Given the description of an element on the screen output the (x, y) to click on. 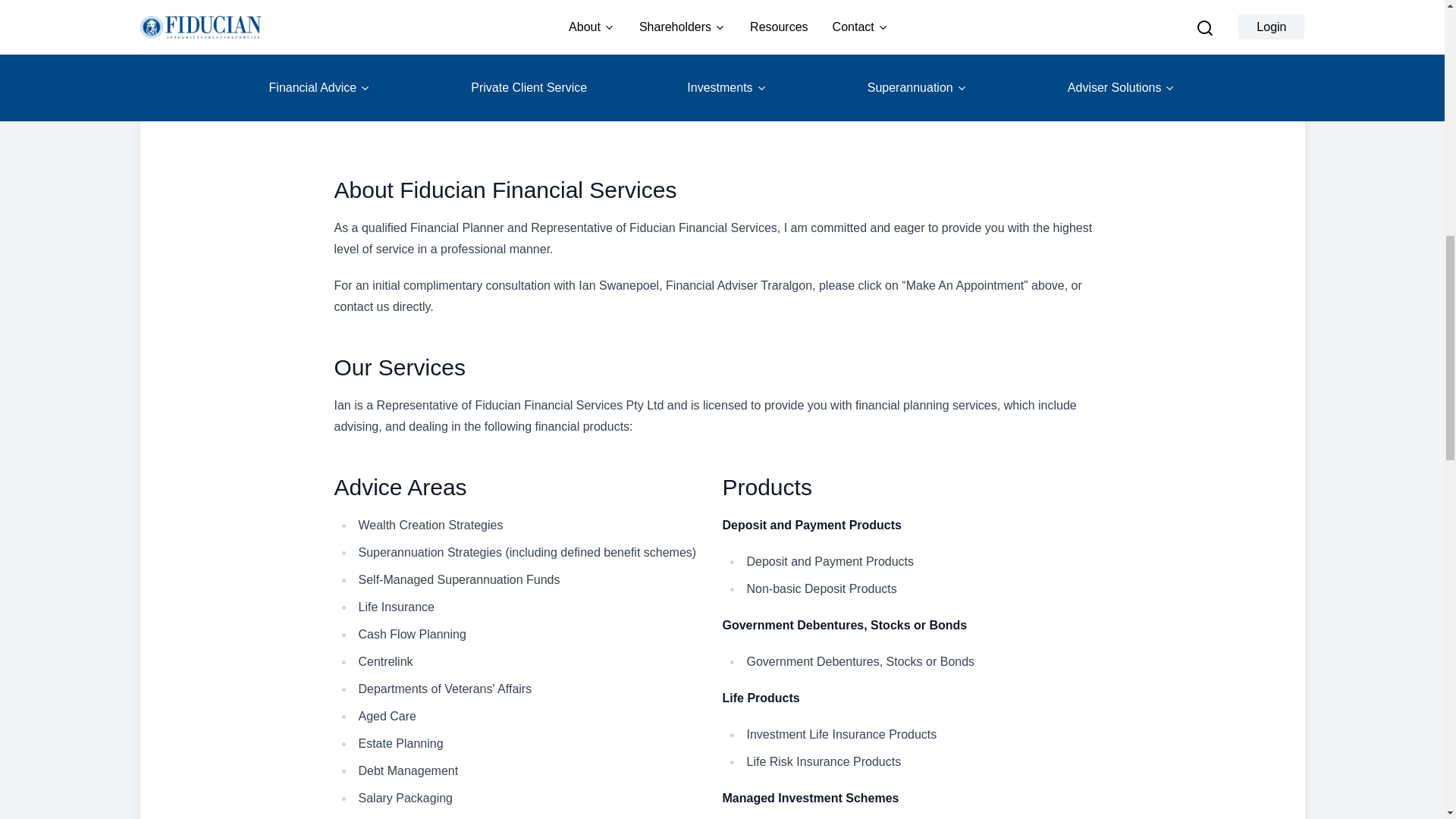
Make an Appointment (1165, 87)
Profile (440, 87)
Services (241, 87)
Testimonials (649, 87)
